Given the description of an element on the screen output the (x, y) to click on. 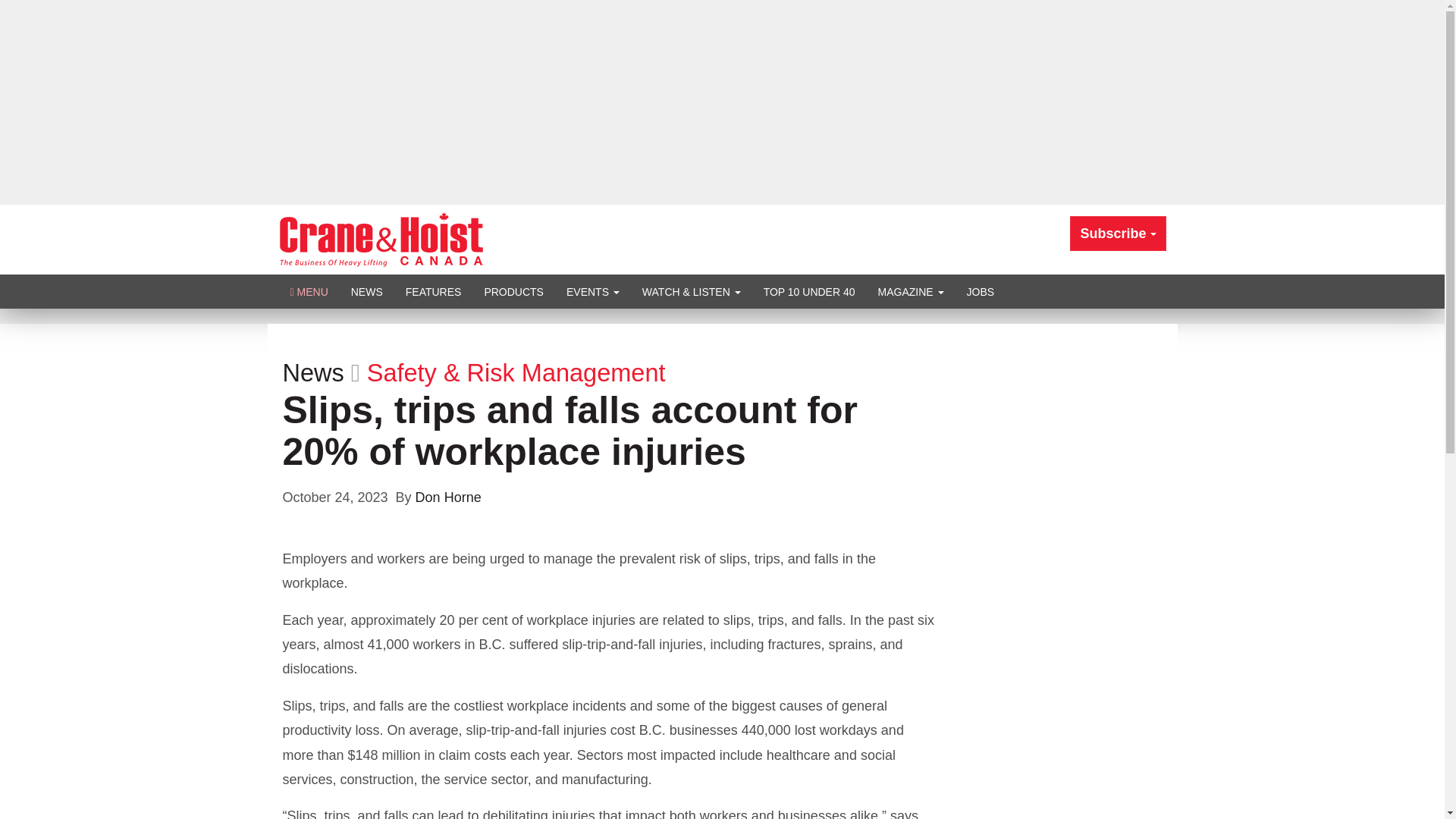
Subscribe (1118, 233)
Crane and Hoist Canada (381, 238)
FEATURES (433, 291)
Click to show site navigation (309, 291)
PRODUCTS (512, 291)
NEWS (366, 291)
MAGAZINE (910, 291)
JOBS (980, 291)
EVENTS (592, 291)
